Given the description of an element on the screen output the (x, y) to click on. 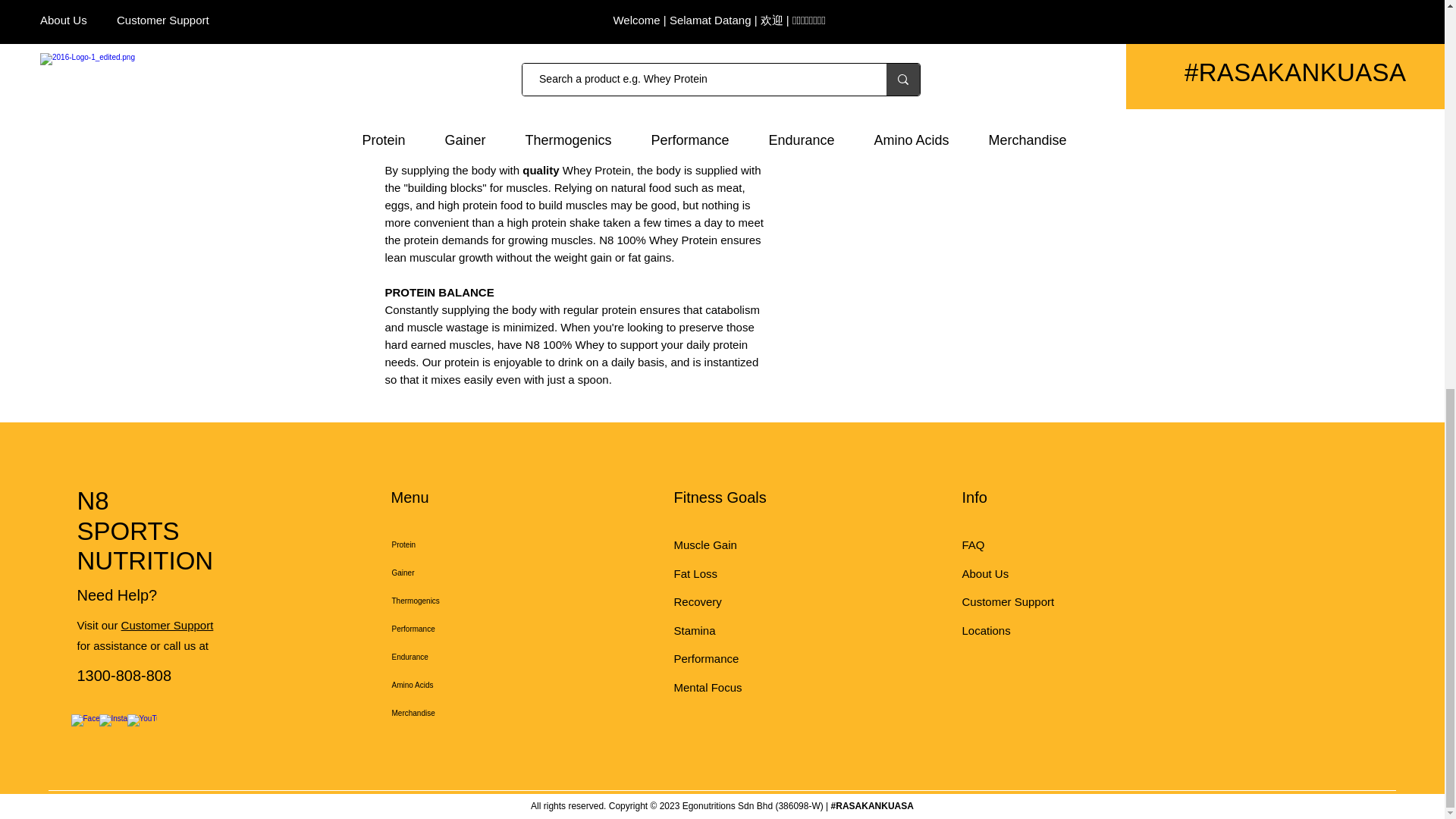
Customer Support (167, 625)
N8 SPORTS NUTRITION (145, 530)
Muscle Gain (704, 544)
Recovery (696, 601)
Performance (444, 628)
Protein (444, 544)
About Us (984, 572)
Locations  (986, 630)
Gainer (444, 572)
Performance (705, 658)
